Given the description of an element on the screen output the (x, y) to click on. 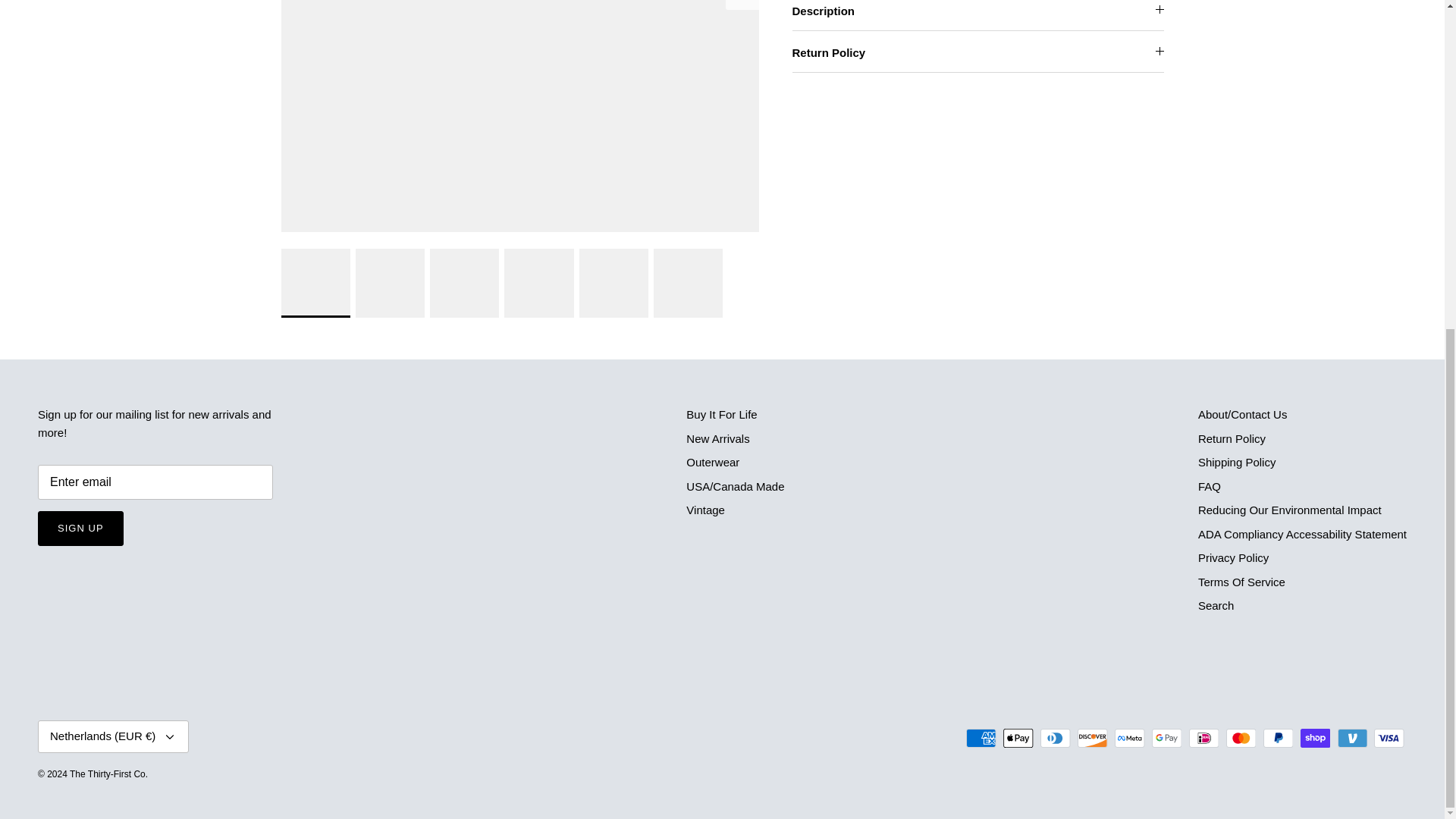
Discover (1092, 737)
Shop Pay (1315, 737)
Mastercard (1240, 737)
RIGHT (741, 2)
PayPal (1277, 737)
Diners Club (1055, 737)
iDEAL (1203, 737)
American Express (980, 737)
Google Pay (1166, 737)
Down (169, 736)
Venmo (1352, 737)
Meta Pay (1129, 737)
Apple Pay (1018, 737)
Visa (1388, 737)
